Given the description of an element on the screen output the (x, y) to click on. 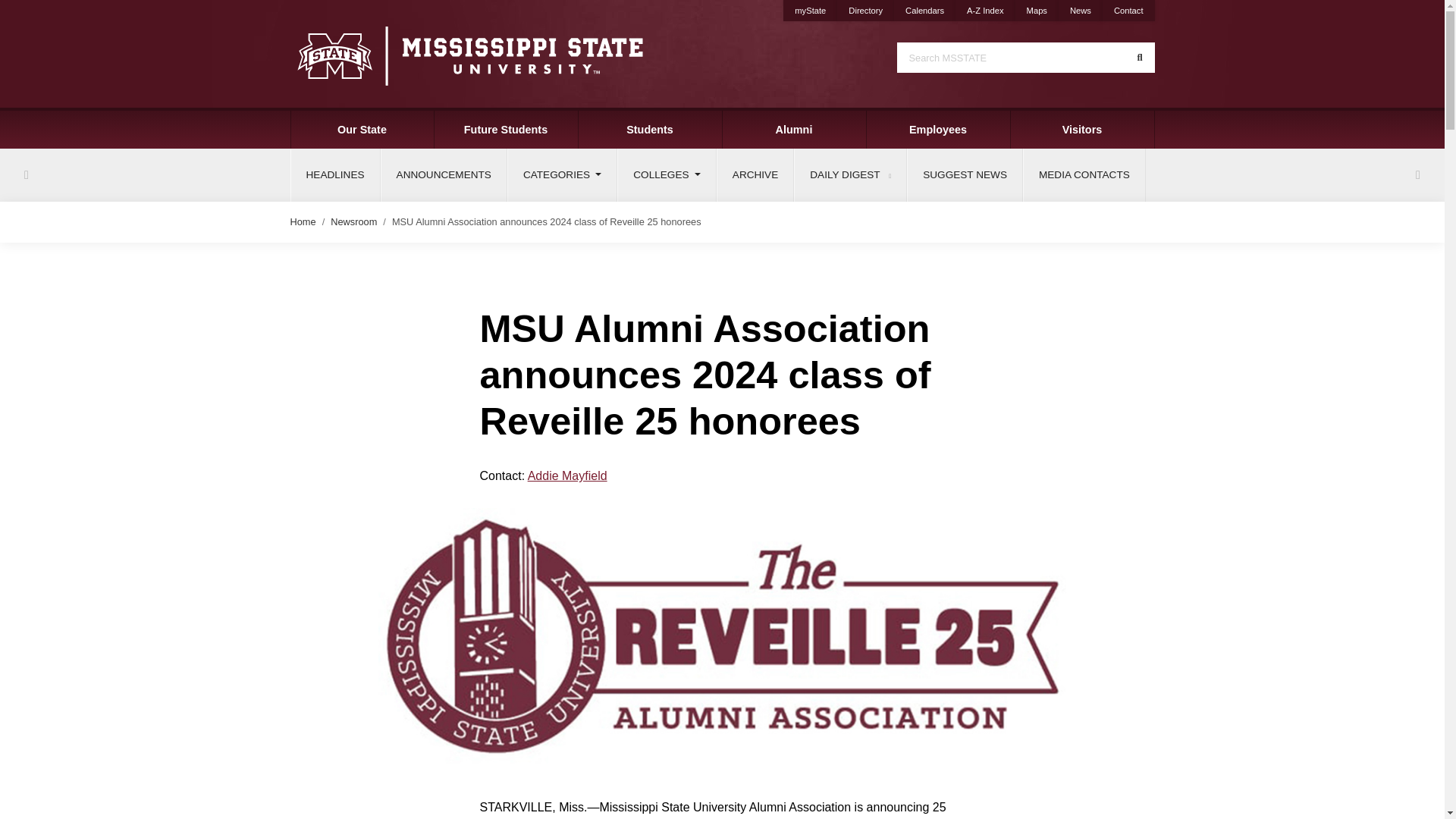
Hover to scroll section menu to the left (26, 174)
Mississippi State University (468, 55)
Addie Mayfield's email address (567, 475)
Search (1139, 57)
